Given the description of an element on the screen output the (x, y) to click on. 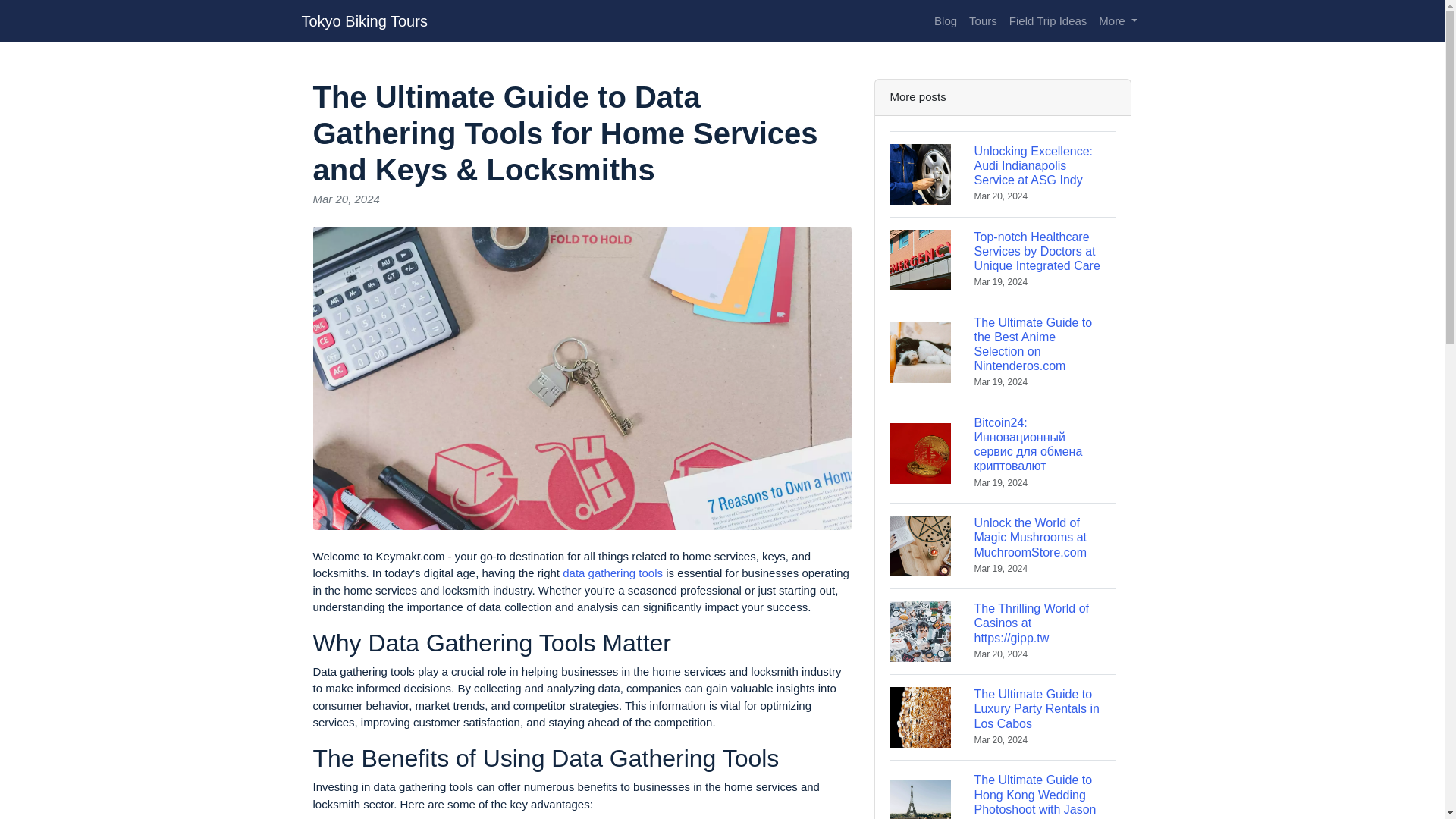
Tokyo Biking Tours (364, 20)
data gathering tools (612, 572)
More (1117, 21)
Tours (982, 21)
Field Trip Ideas (1048, 21)
Blog (945, 21)
